Given the description of an element on the screen output the (x, y) to click on. 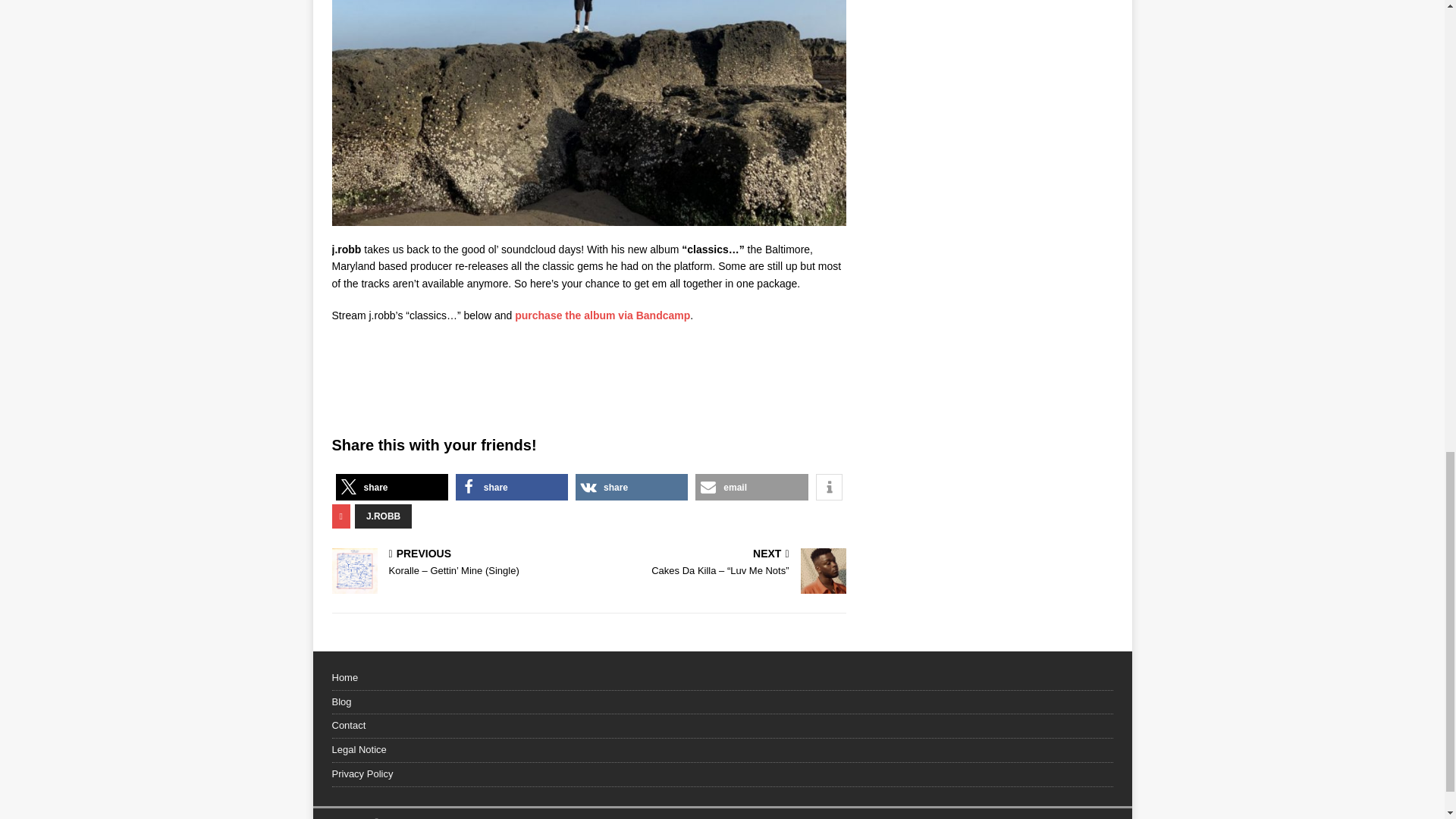
Share on X (390, 487)
Share on VK (631, 487)
More information (829, 487)
Send by email (751, 487)
Share on Facebook (511, 487)
